Given the description of an element on the screen output the (x, y) to click on. 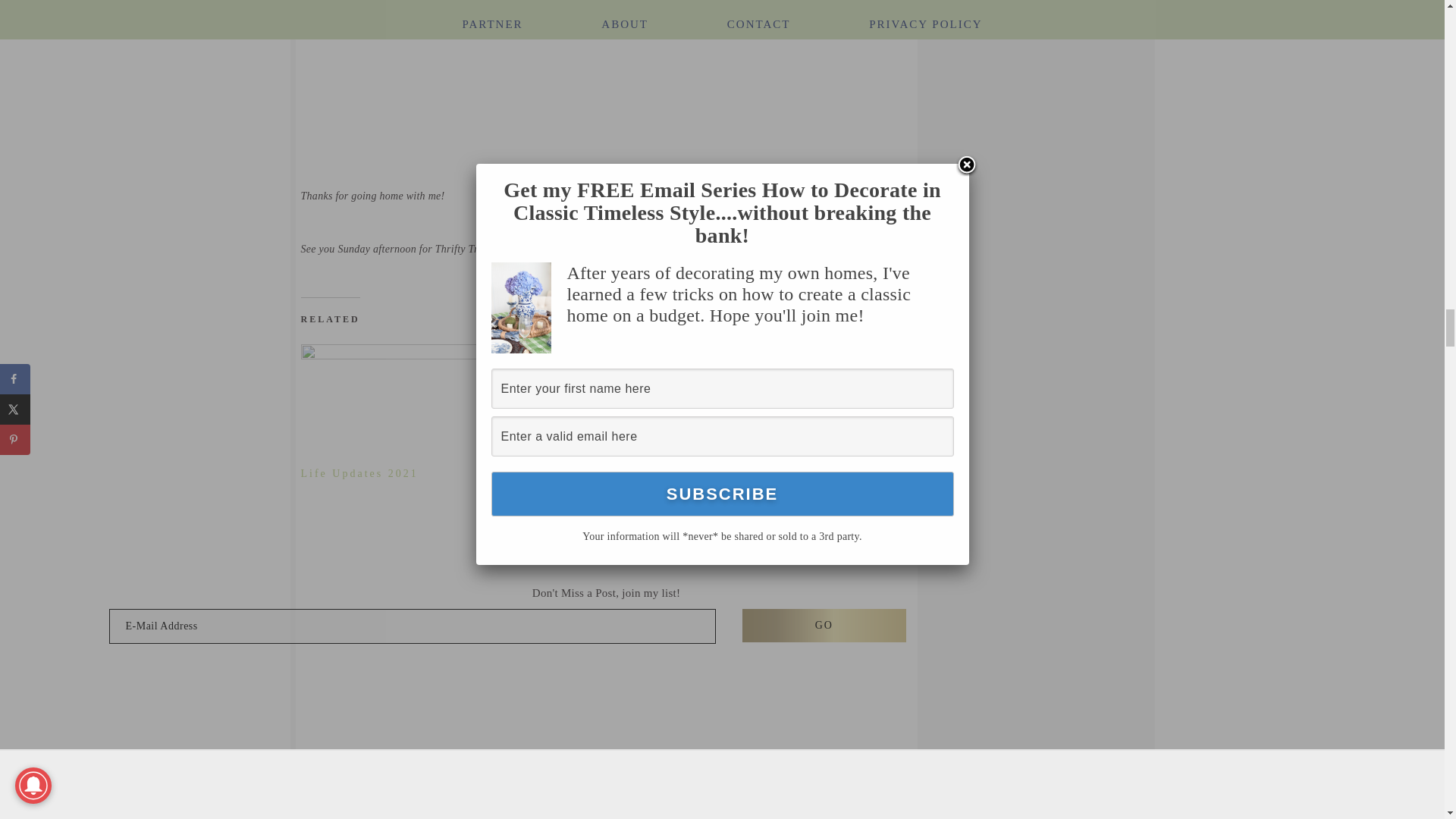
Go (823, 625)
